Given the description of an element on the screen output the (x, y) to click on. 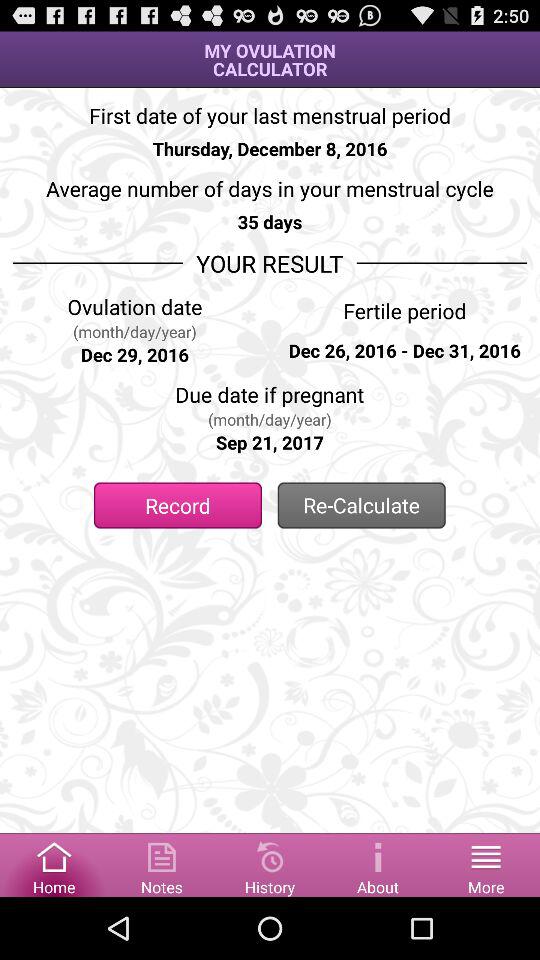
open the 'about screen (378, 864)
